Given the description of an element on the screen output the (x, y) to click on. 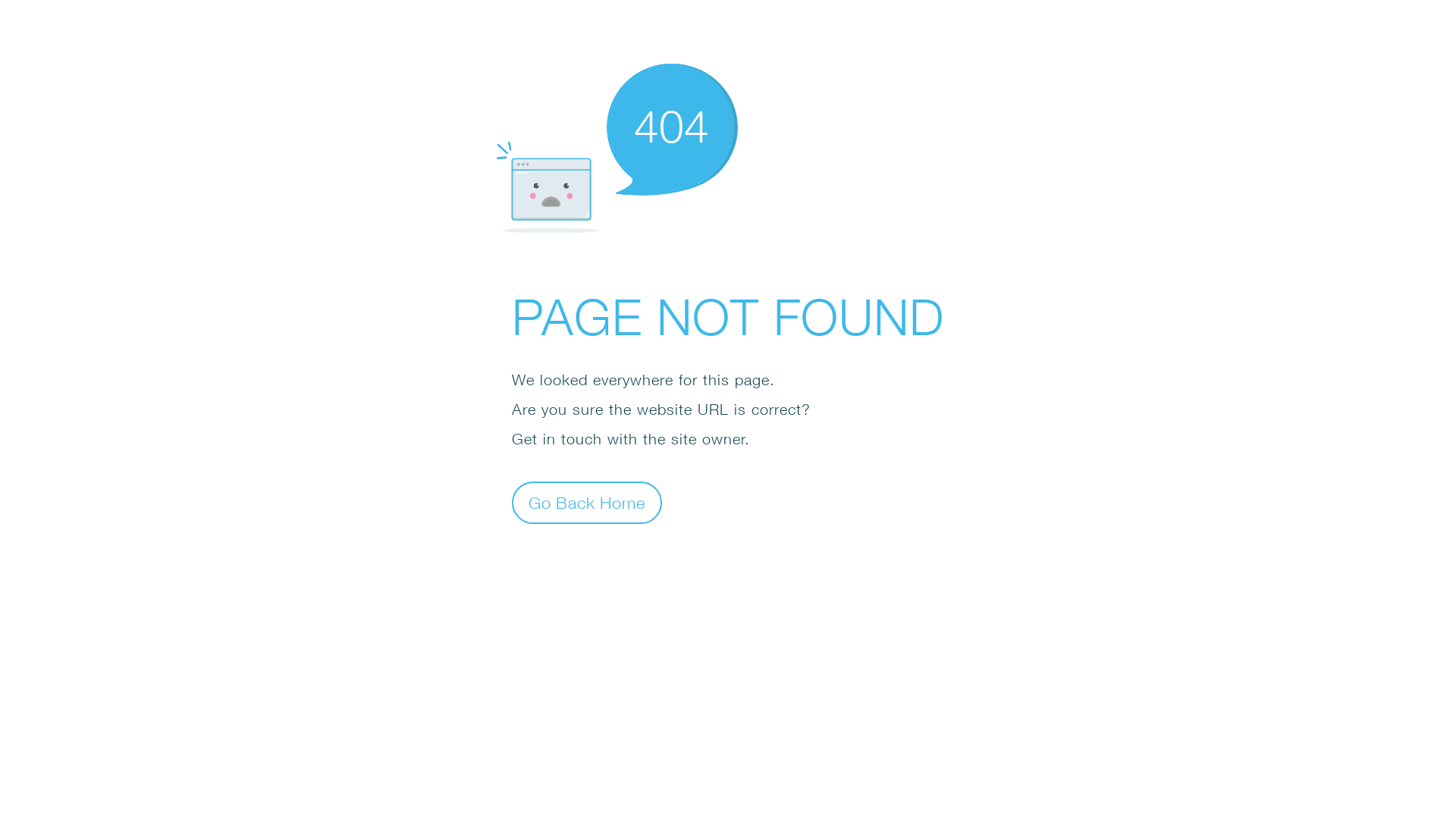
Go Back Home Element type: text (586, 502)
